Given the description of an element on the screen output the (x, y) to click on. 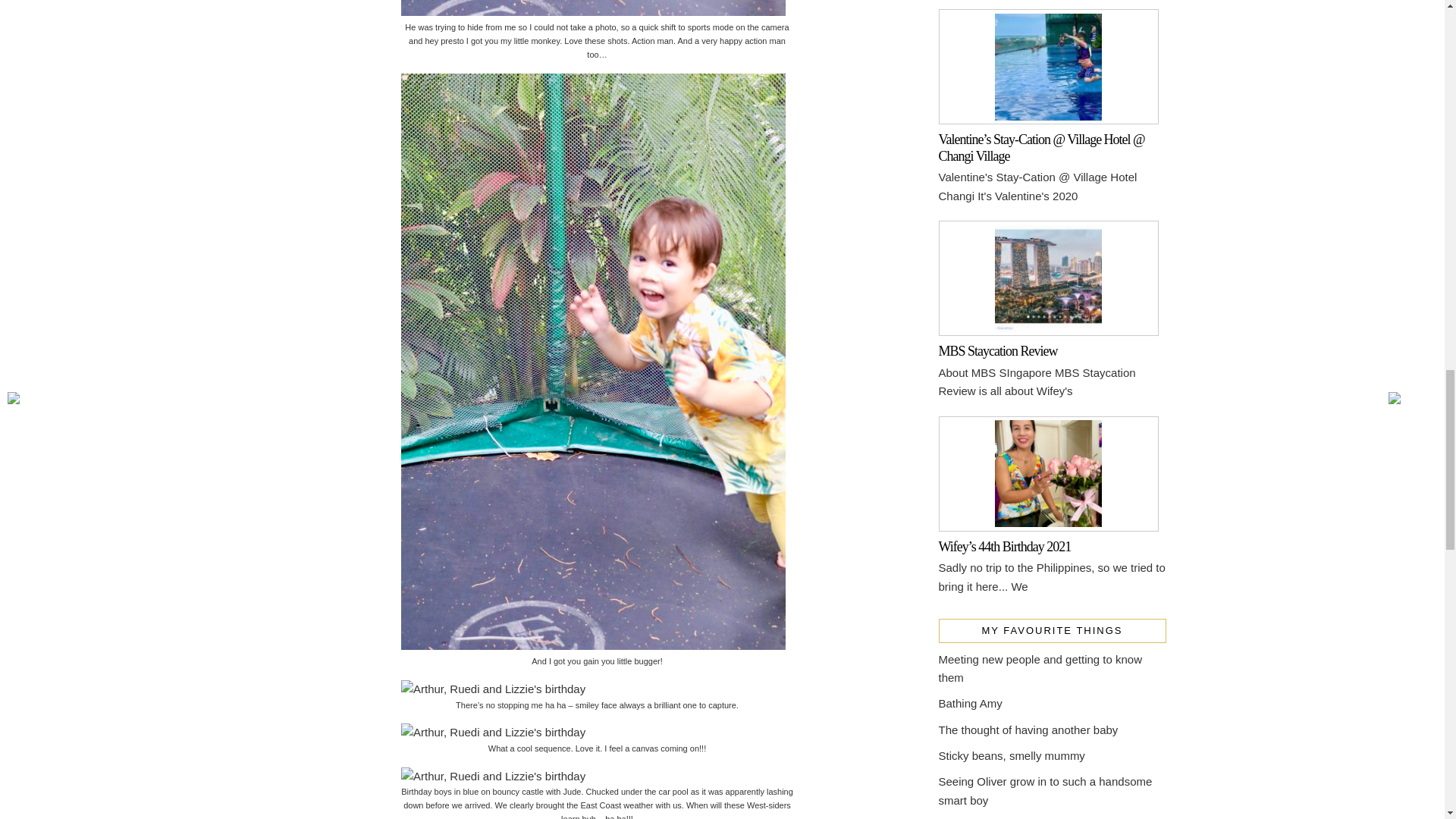
MBS Staycation Review (998, 350)
